Given the description of an element on the screen output the (x, y) to click on. 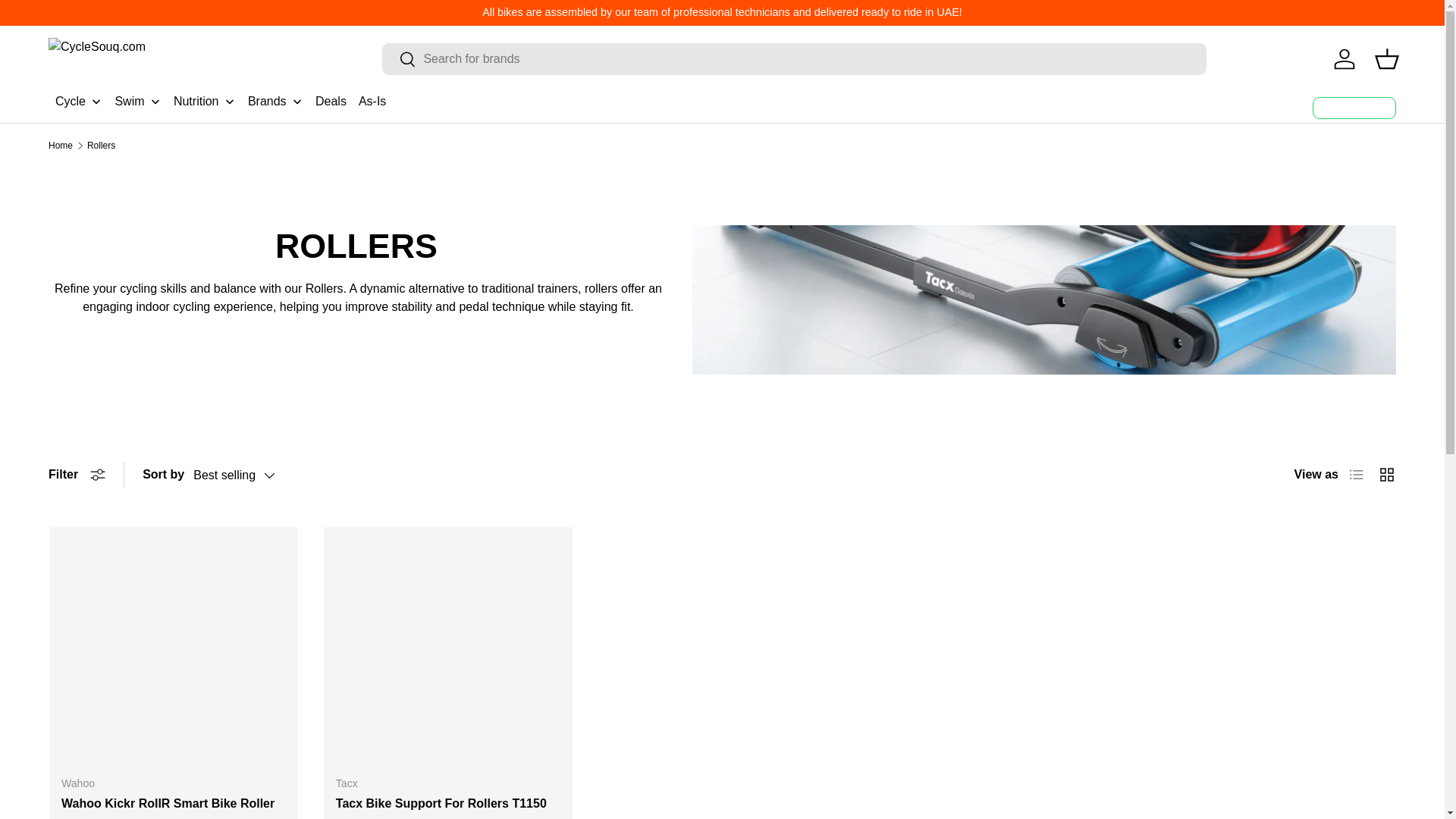
Deals (330, 101)
Brands (274, 101)
Log in (1344, 59)
Best selling (249, 475)
Call us (1354, 107)
Swim (138, 101)
Nutrition (204, 101)
Rollers (101, 144)
Basket (1386, 59)
Tacx Bike Support For Rollers T1150 (441, 802)
Home (60, 144)
SKIP TO CONTENT (68, 21)
Search (398, 59)
As-Is (371, 101)
Filter (76, 474)
